Given the description of an element on the screen output the (x, y) to click on. 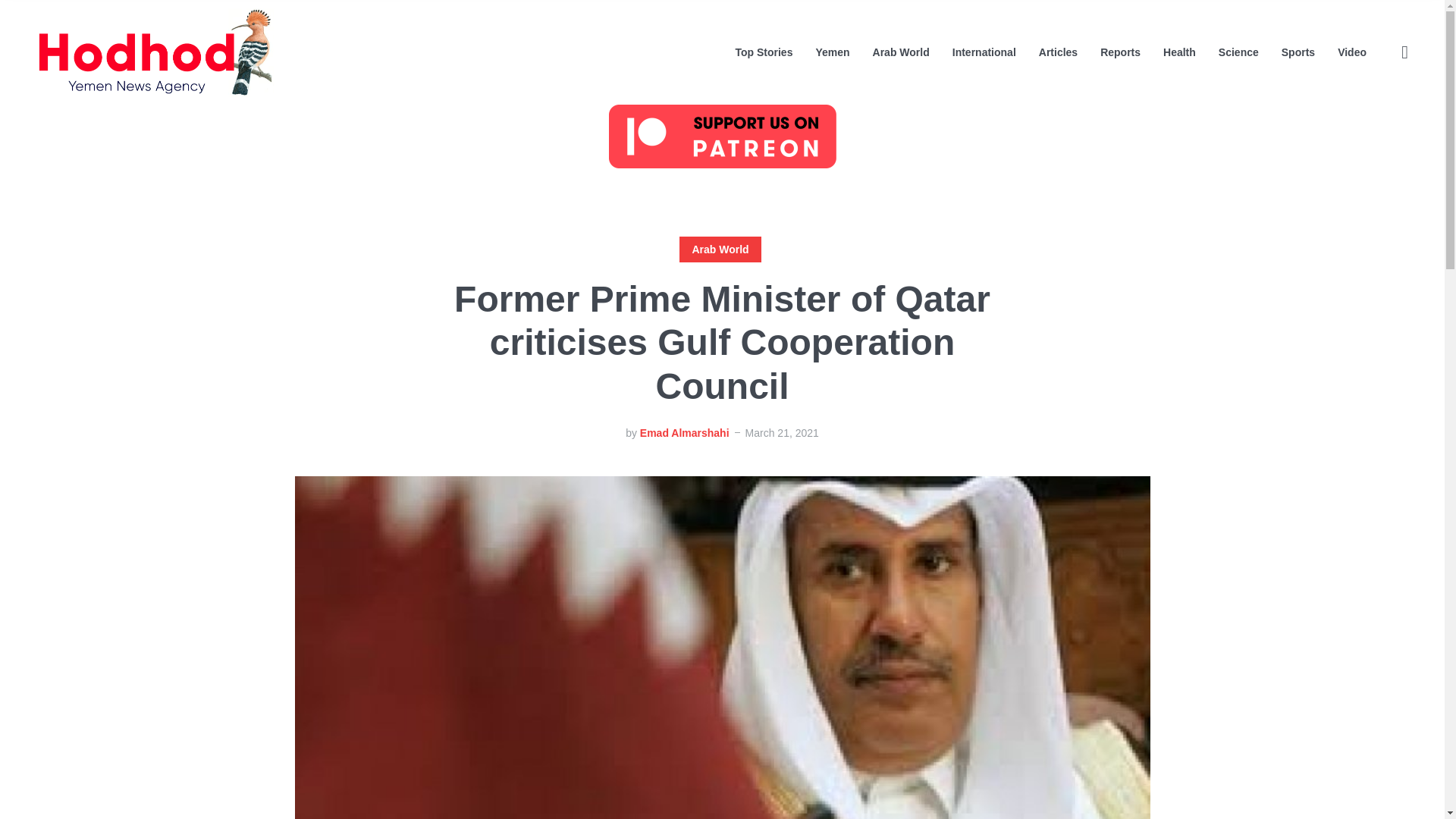
Top Stories (763, 52)
Articles (1058, 52)
Health (1179, 52)
Reports (1120, 52)
Arab World (719, 249)
Arab World (901, 52)
Science (1238, 52)
Sports (1297, 52)
Yemen (831, 52)
Emad Almarshahi (684, 432)
Video (1352, 52)
International (984, 52)
